Given the description of an element on the screen output the (x, y) to click on. 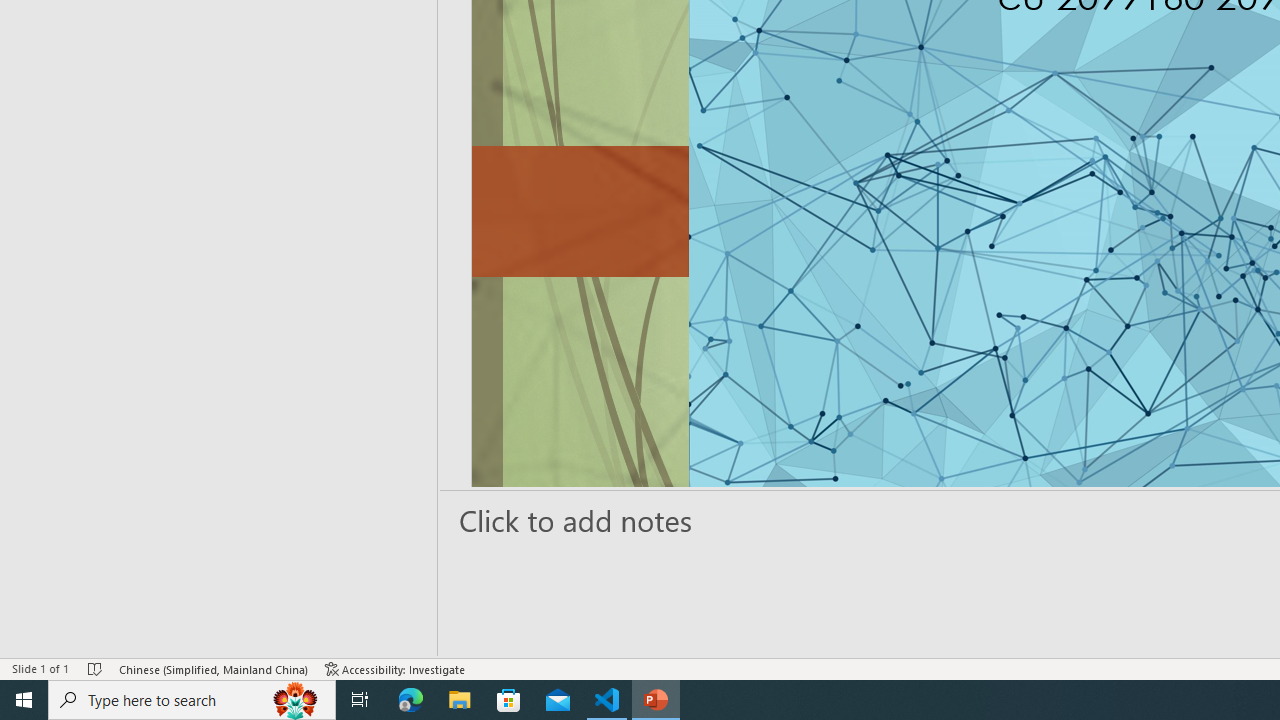
Spell Check No Errors (95, 668)
Accessibility Checker Accessibility: Investigate (395, 668)
